Given the description of an element on the screen output the (x, y) to click on. 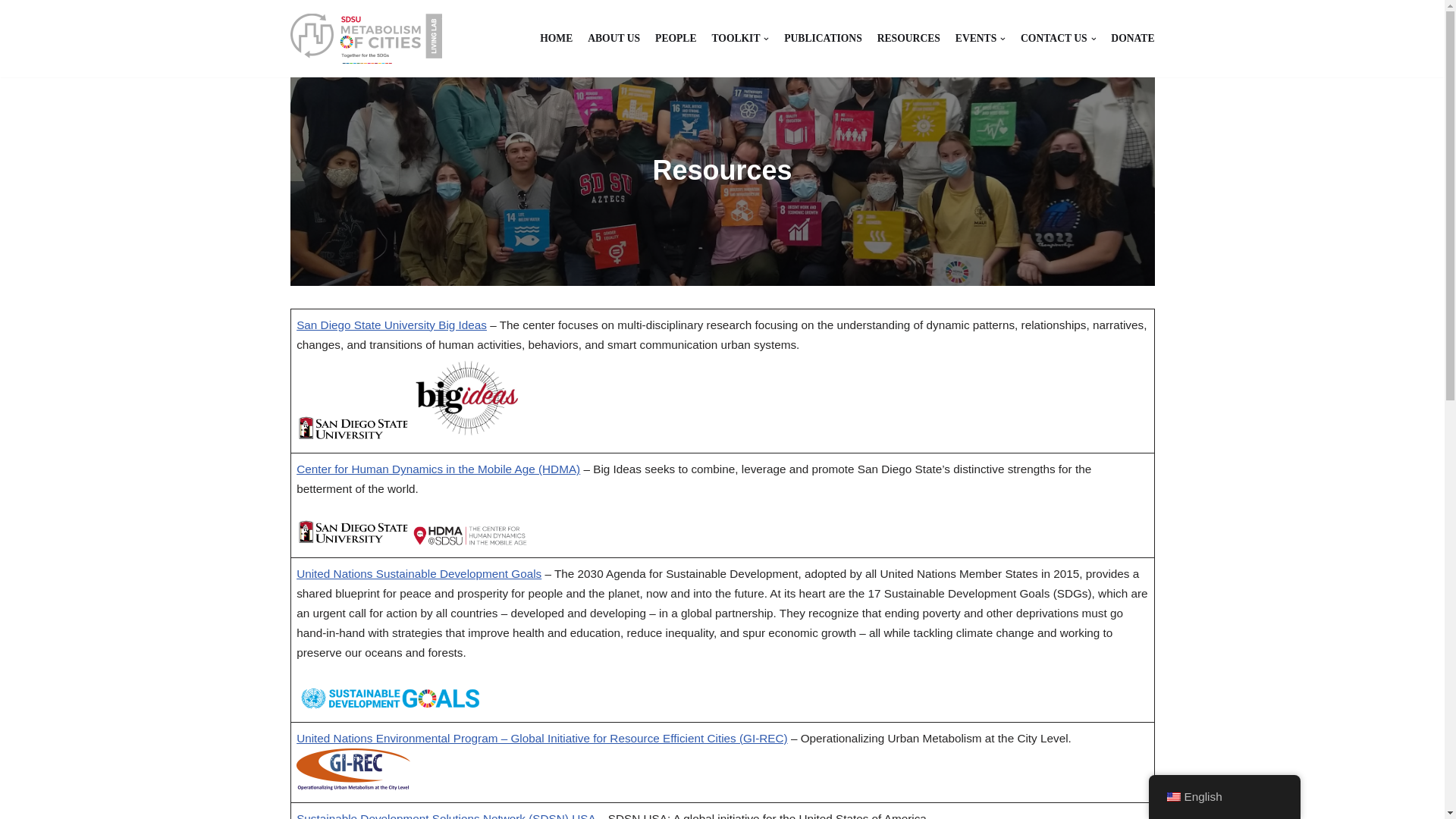
RESOURCES (908, 37)
ABOUT US (614, 37)
TOOLKIT (739, 37)
PUBLICATIONS (822, 37)
Metabolism of Cities - Living Lab (365, 38)
HOME (556, 37)
EVENTS (980, 37)
DONATE (1132, 37)
Skip to content (11, 31)
CONTACT US (1058, 37)
